Given the description of an element on the screen output the (x, y) to click on. 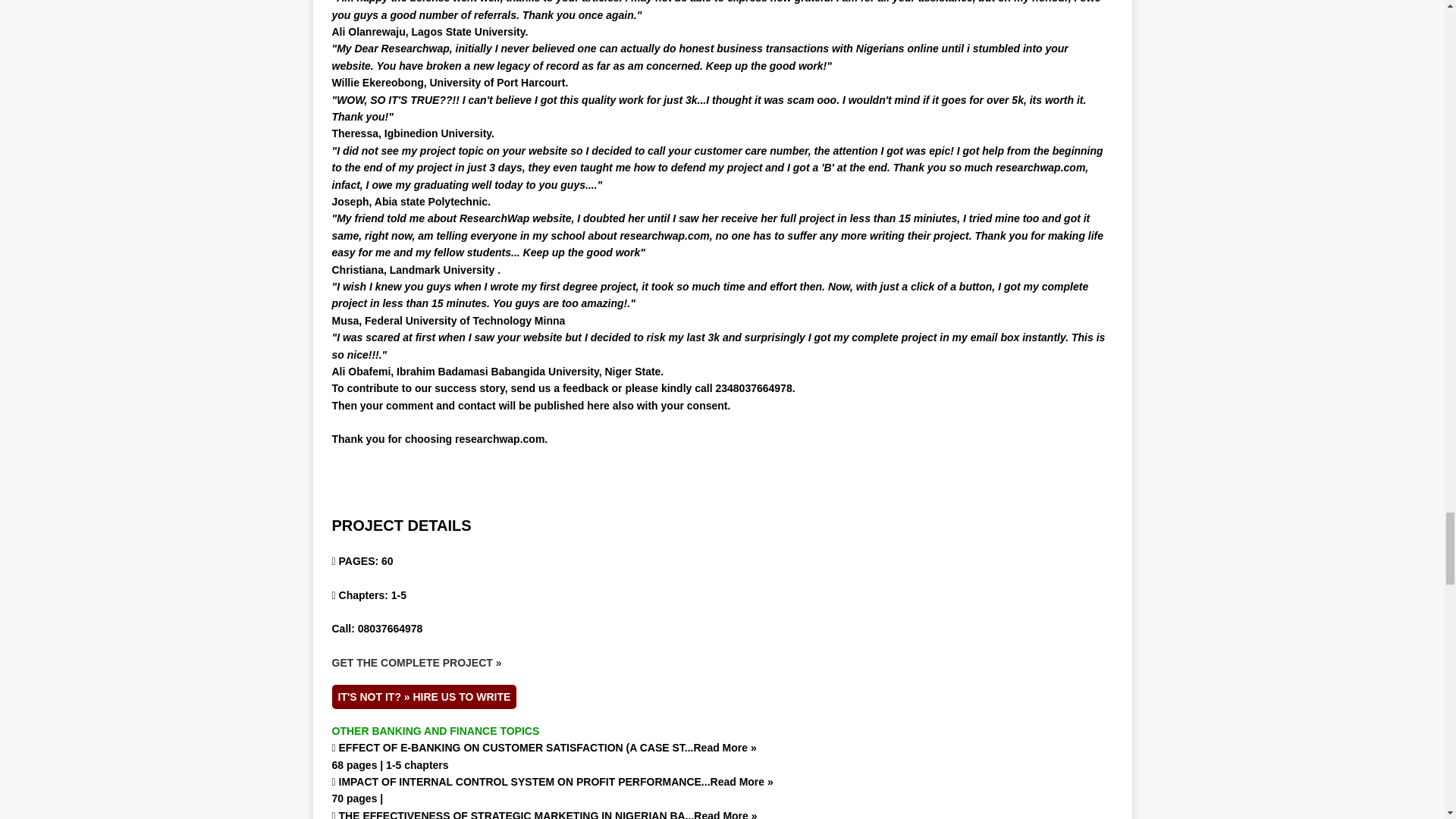
Call: 08037664978 (377, 628)
60 (387, 561)
OTHER BANKING AND FINANCE TOPICS (435, 730)
researchwap.com (499, 439)
